Given the description of an element on the screen output the (x, y) to click on. 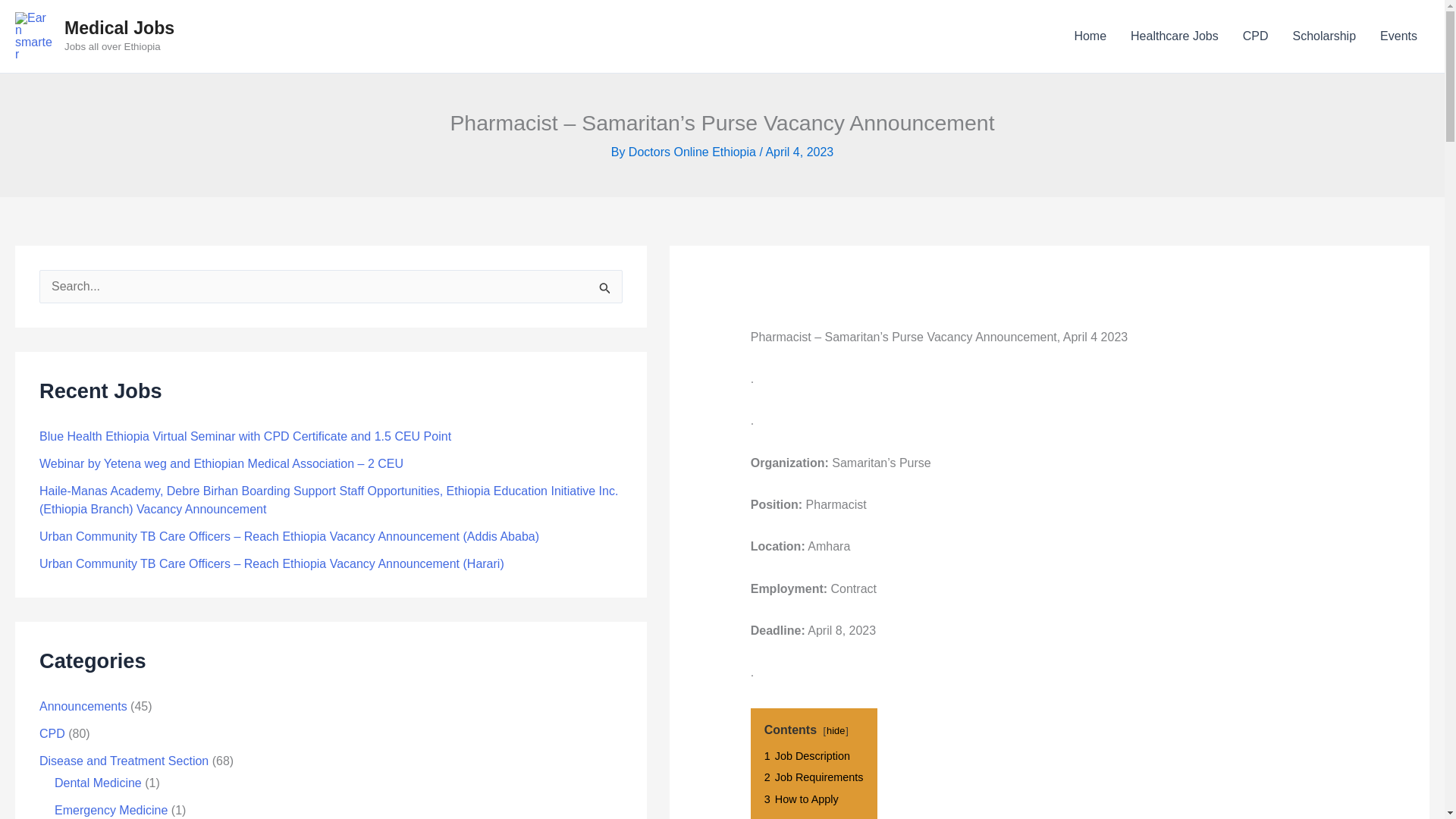
CPD (52, 733)
CPD (1255, 35)
View all posts by Doctors Online Ethiopia (691, 151)
Search (605, 291)
Doctors Online Ethiopia (691, 151)
Scholarship (1323, 35)
Emergency Medicine (111, 809)
Announcements (83, 706)
Medical Jobs (119, 27)
Search (605, 291)
Search (605, 291)
Disease and Treatment Section (123, 760)
Events (1398, 35)
Home (1089, 35)
